Given the description of an element on the screen output the (x, y) to click on. 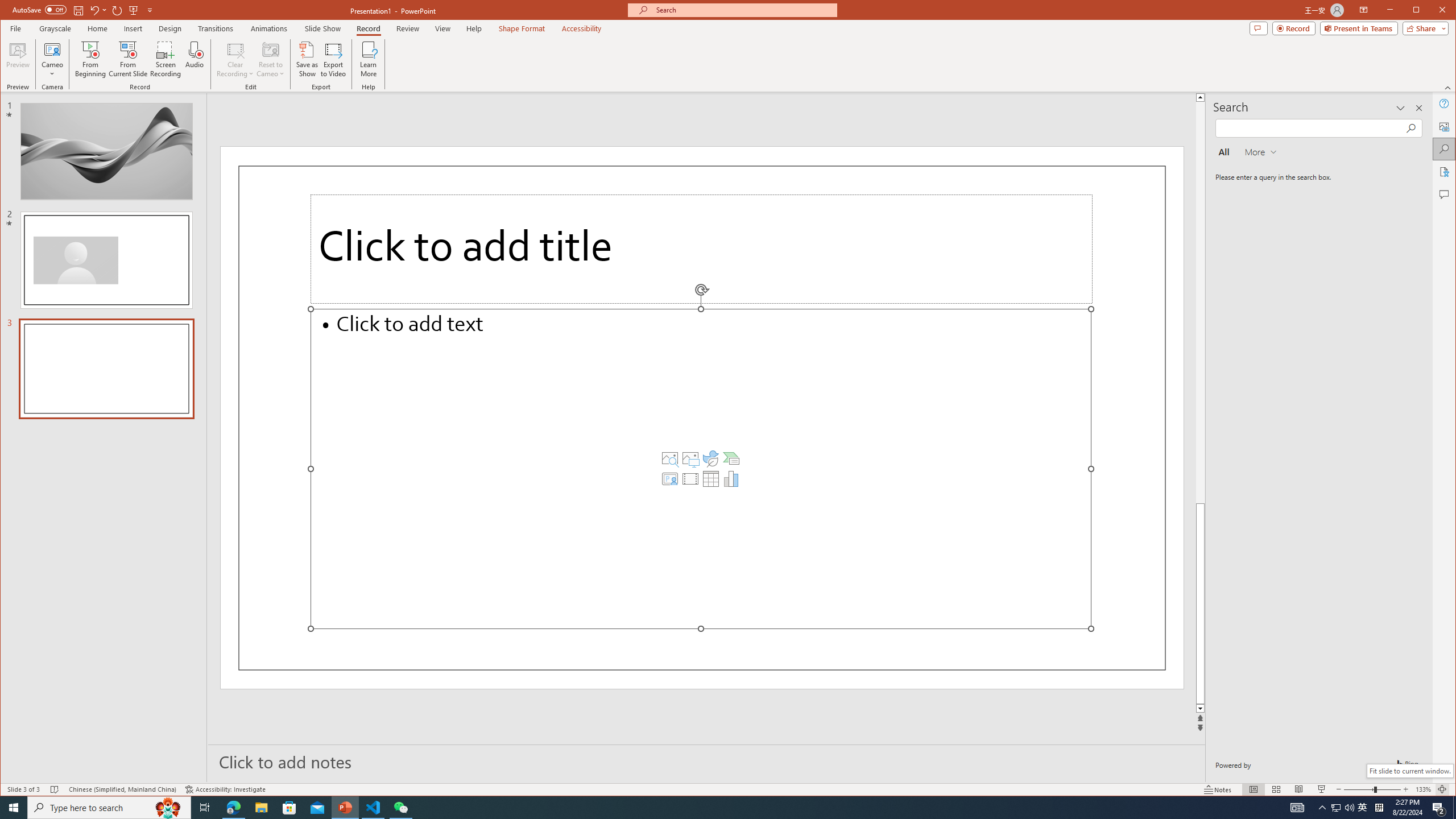
Insert a SmartArt Graphic (731, 458)
